Given the description of an element on the screen output the (x, y) to click on. 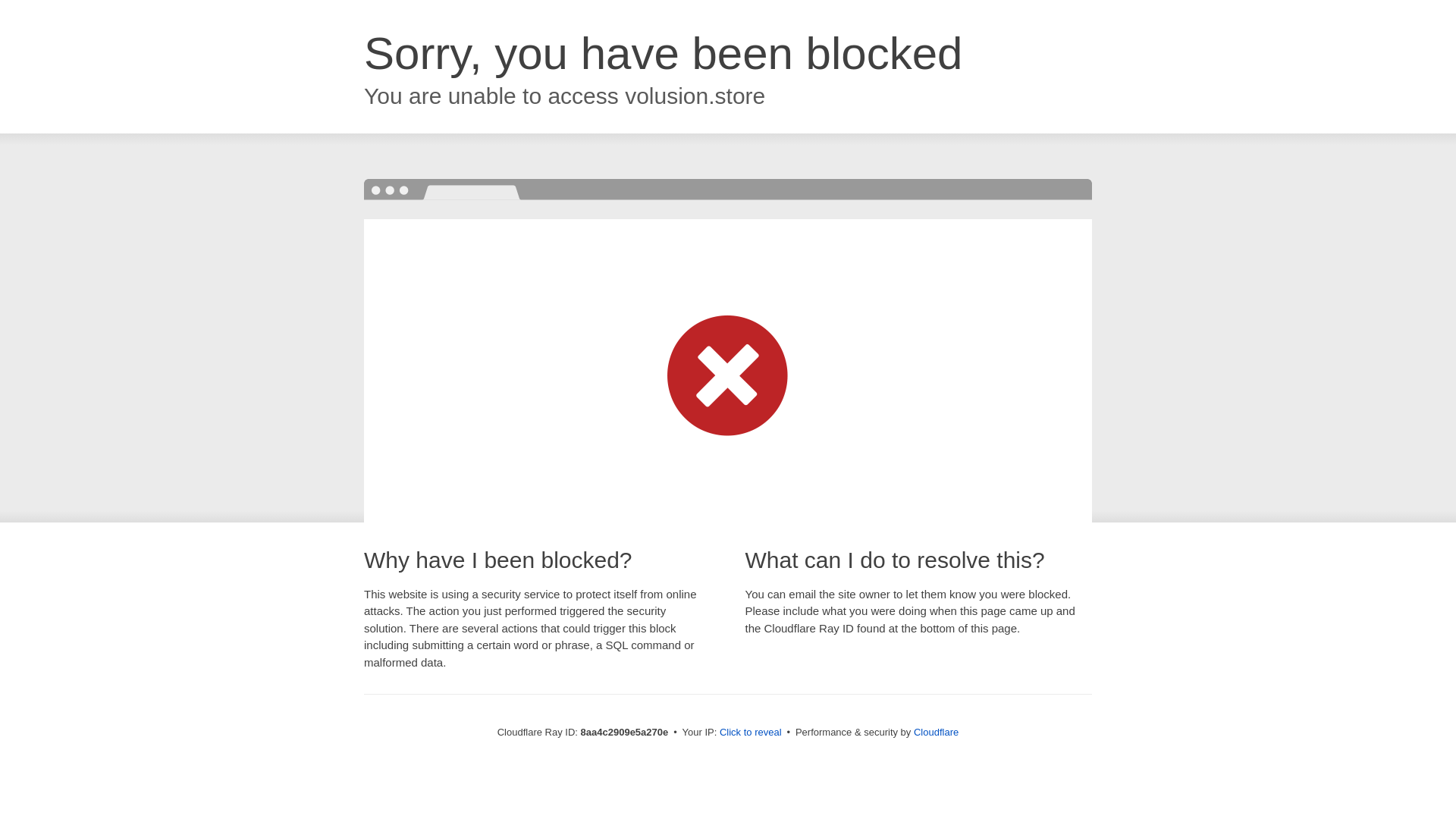
Click to reveal (750, 732)
Cloudflare (936, 731)
